Given the description of an element on the screen output the (x, y) to click on. 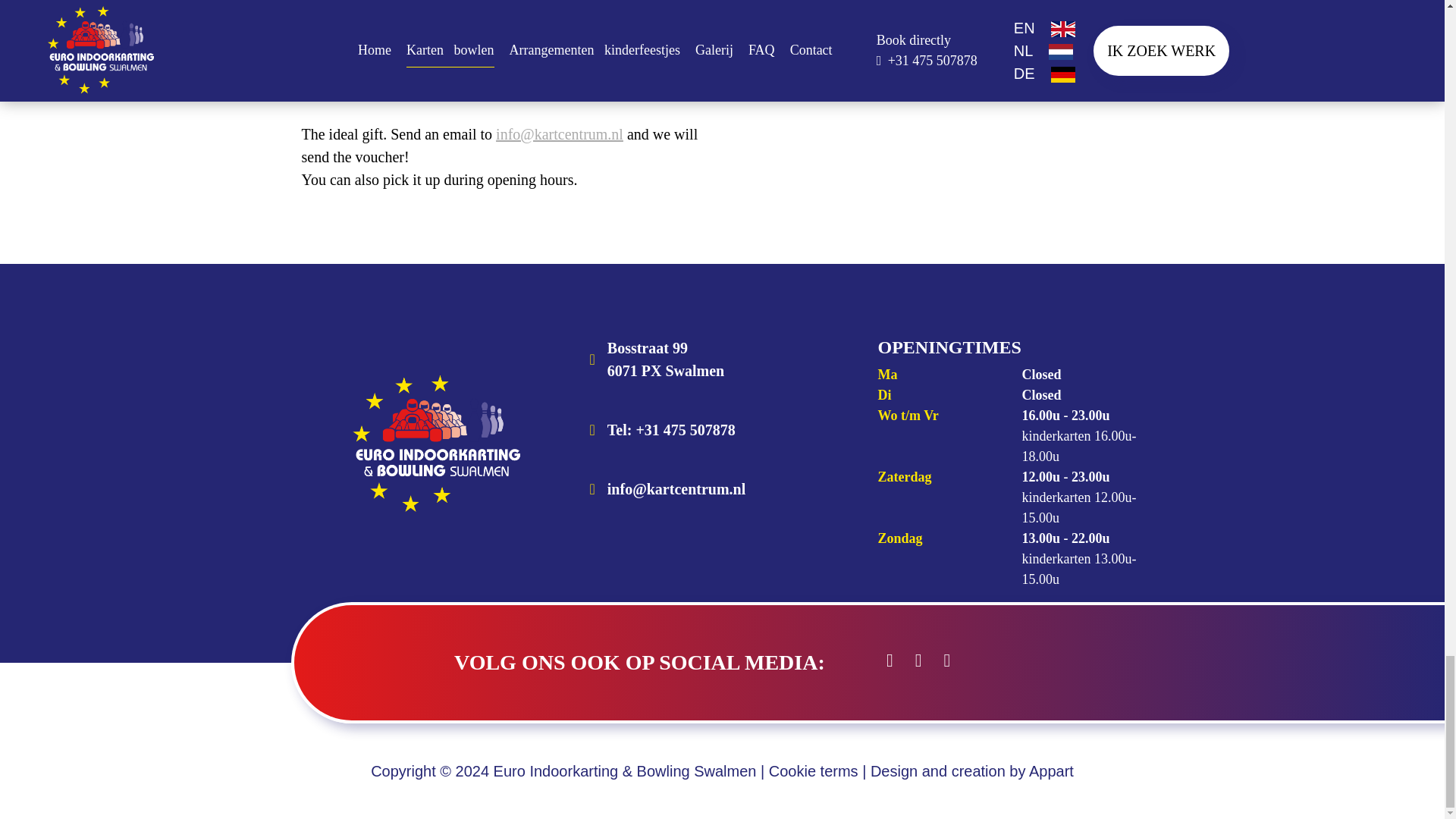
Appart (1051, 770)
Cookie terms (721, 359)
